Given the description of an element on the screen output the (x, y) to click on. 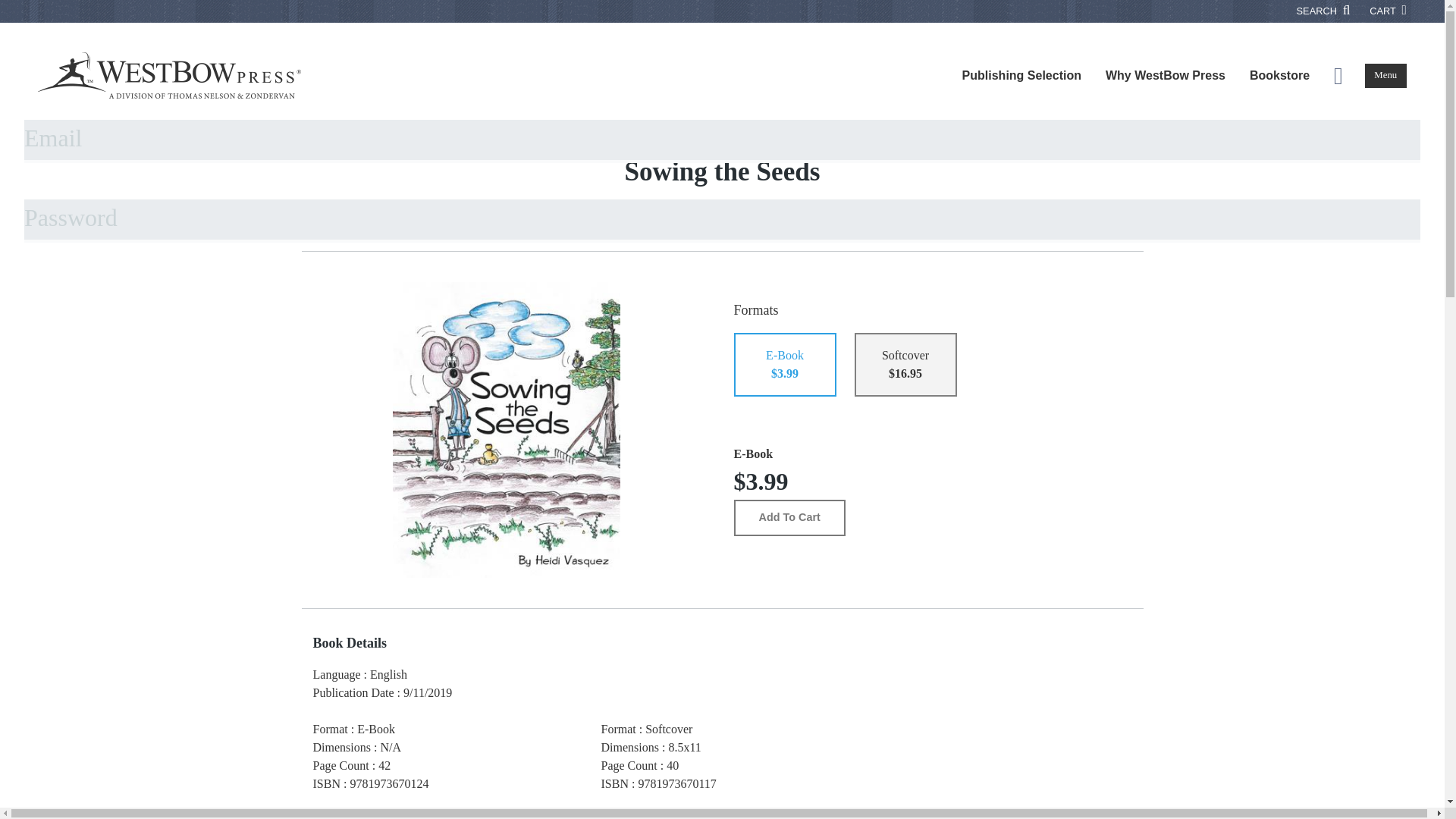
Publishing Selection (1021, 75)
Why WestBow Press (1165, 75)
Menu (1385, 75)
Bookstore (1279, 75)
User Menu (1337, 75)
Add To Cart (789, 517)
SEARCH (1324, 11)
CART (1388, 11)
